Given the description of an element on the screen output the (x, y) to click on. 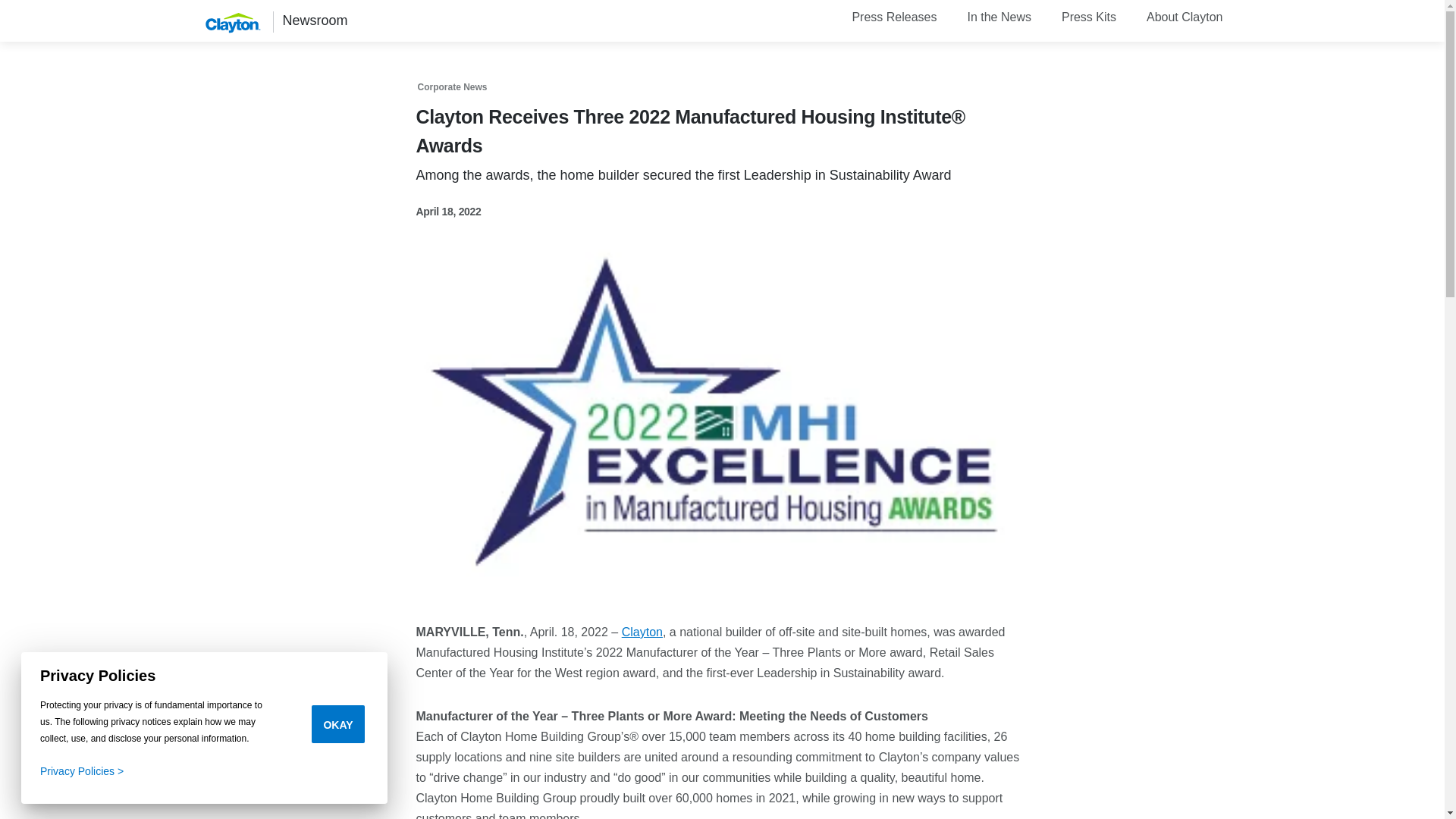
Clayton (641, 631)
Press Kits (1088, 17)
Clayton Homes (233, 21)
Press Releases (893, 17)
Clayton Homes (233, 32)
Newsroom (314, 20)
About Clayton (1185, 17)
In the News (998, 17)
